Given the description of an element on the screen output the (x, y) to click on. 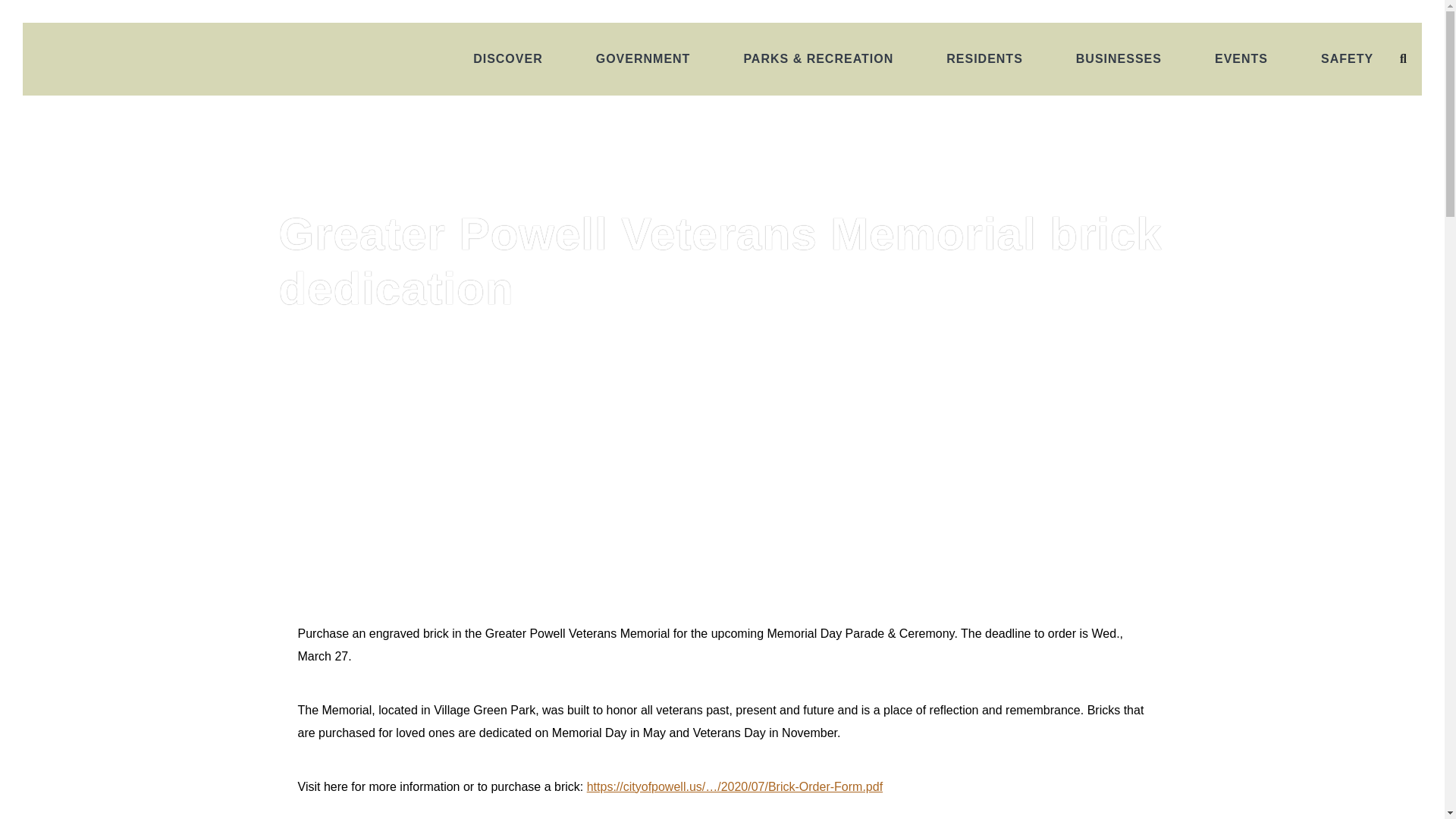
RESIDENTS (984, 58)
DISCOVER (508, 58)
GOVERNMENT (642, 58)
